Given the description of an element on the screen output the (x, y) to click on. 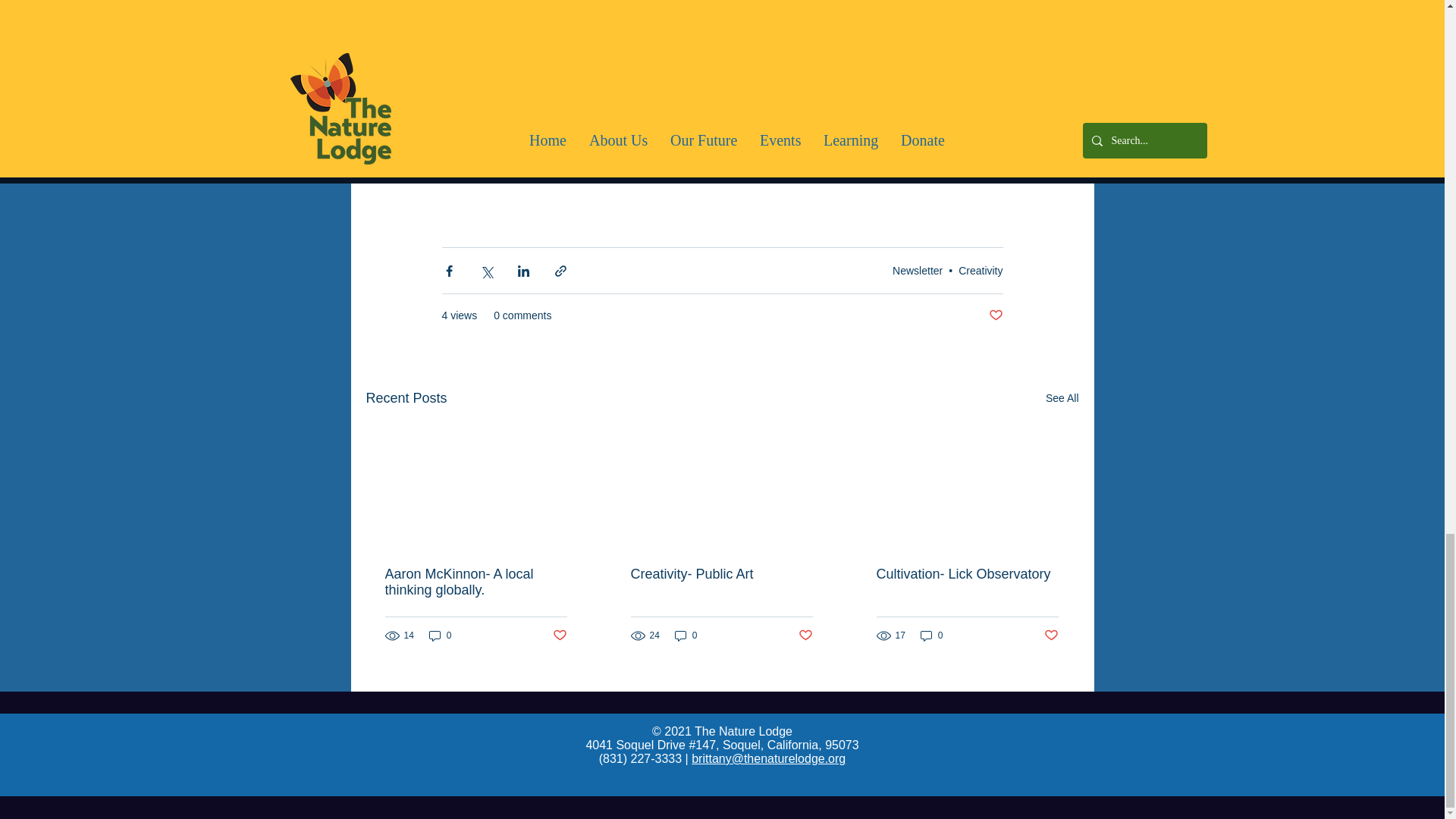
Creativity (980, 270)
Post not marked as liked (558, 635)
See All (1061, 398)
Newsletter (917, 270)
Post not marked as liked (995, 315)
Aaron McKinnon- A local thinking globally. (476, 582)
0 (440, 635)
